Given the description of an element on the screen output the (x, y) to click on. 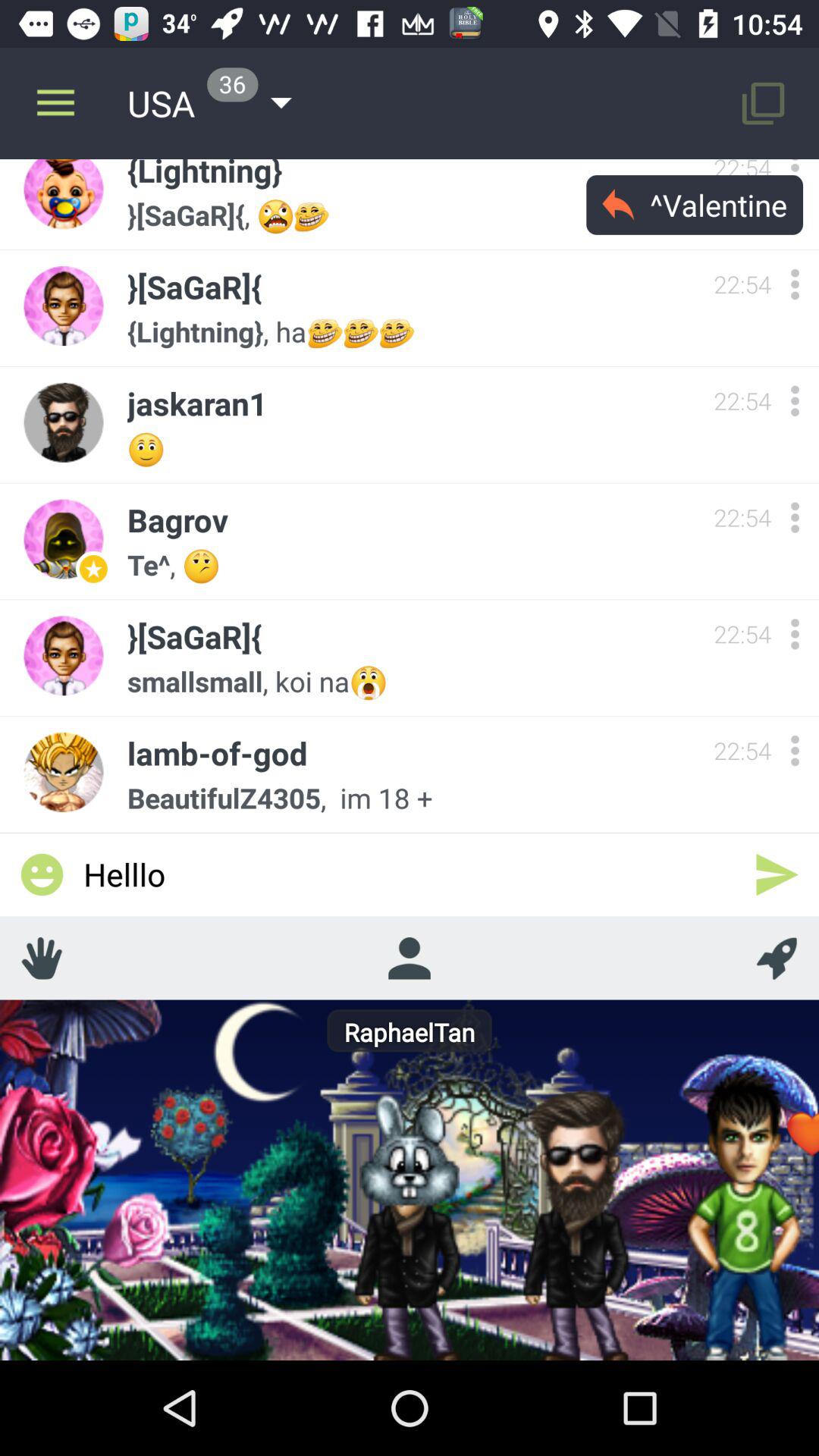
more options bagrov (795, 517)
